Given the description of an element on the screen output the (x, y) to click on. 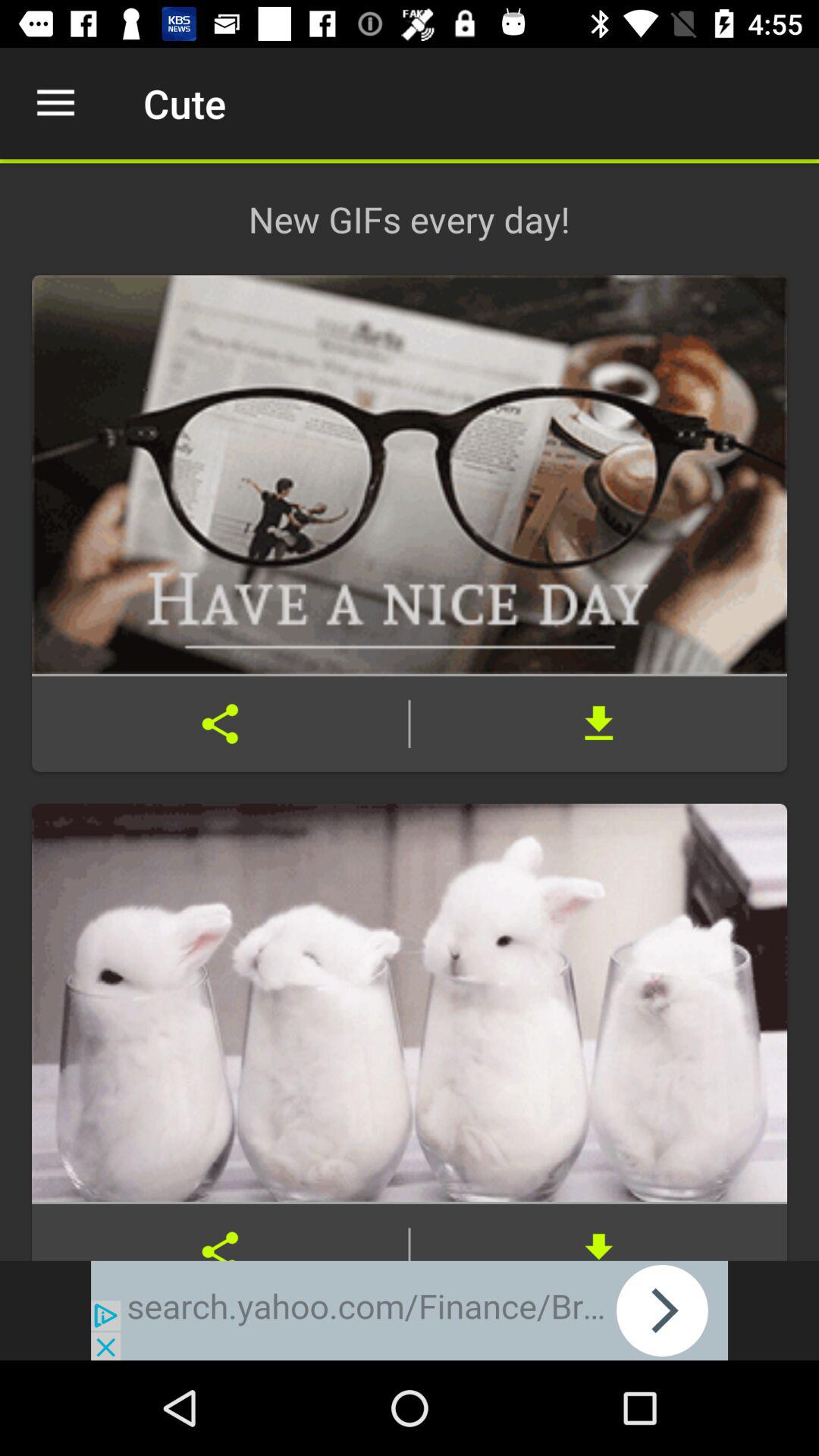
share gif (219, 723)
